Given the description of an element on the screen output the (x, y) to click on. 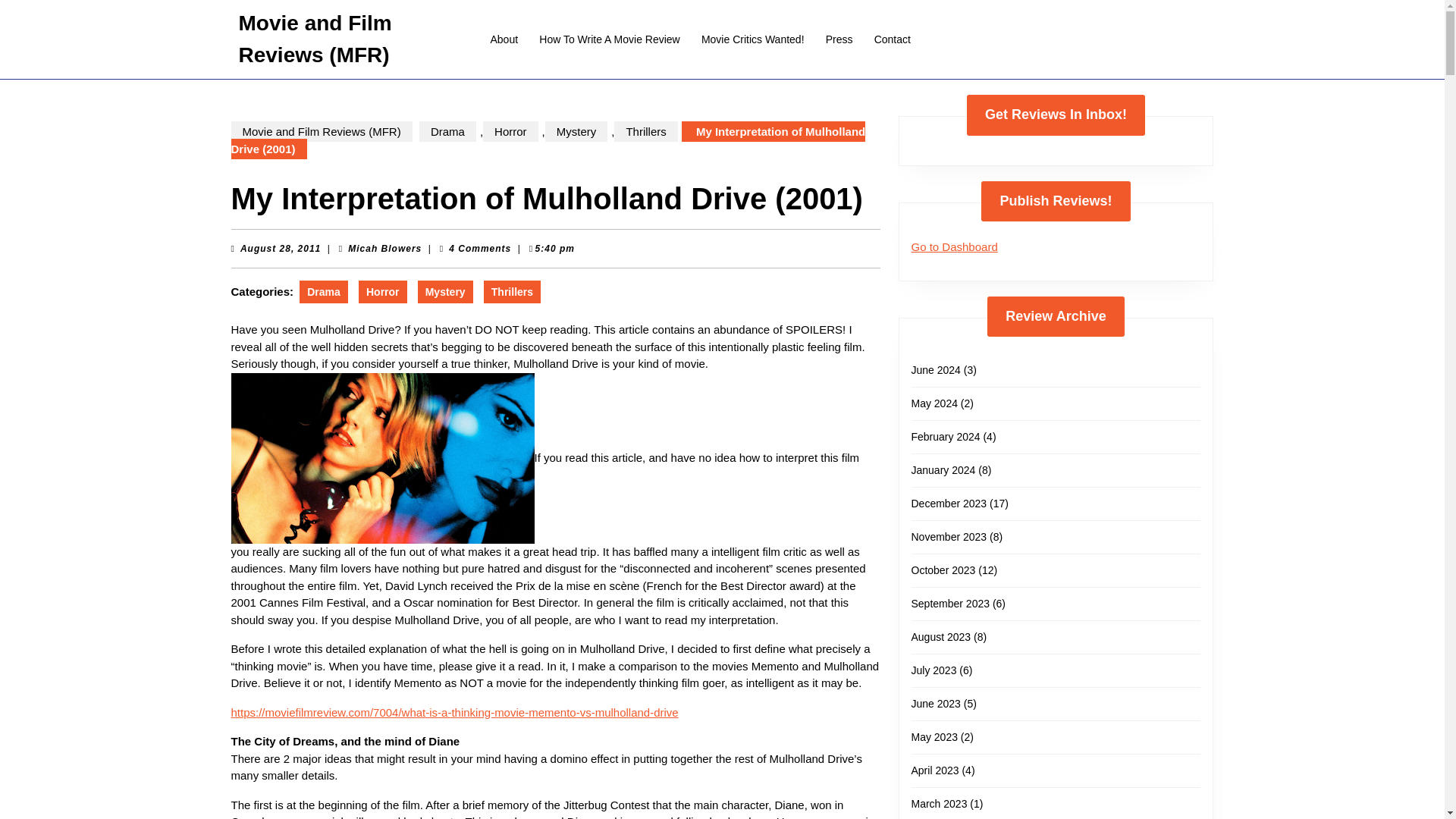
Movie Critics Wanted! (753, 39)
Horror (382, 291)
Mystery (576, 131)
Drama (447, 131)
How To Write A Movie Review (608, 39)
Thrillers (511, 291)
Thrillers (645, 131)
Mystery (445, 291)
Drama (384, 248)
Contact (323, 291)
About (892, 39)
Press (503, 39)
Horror (838, 39)
